Given the description of an element on the screen output the (x, y) to click on. 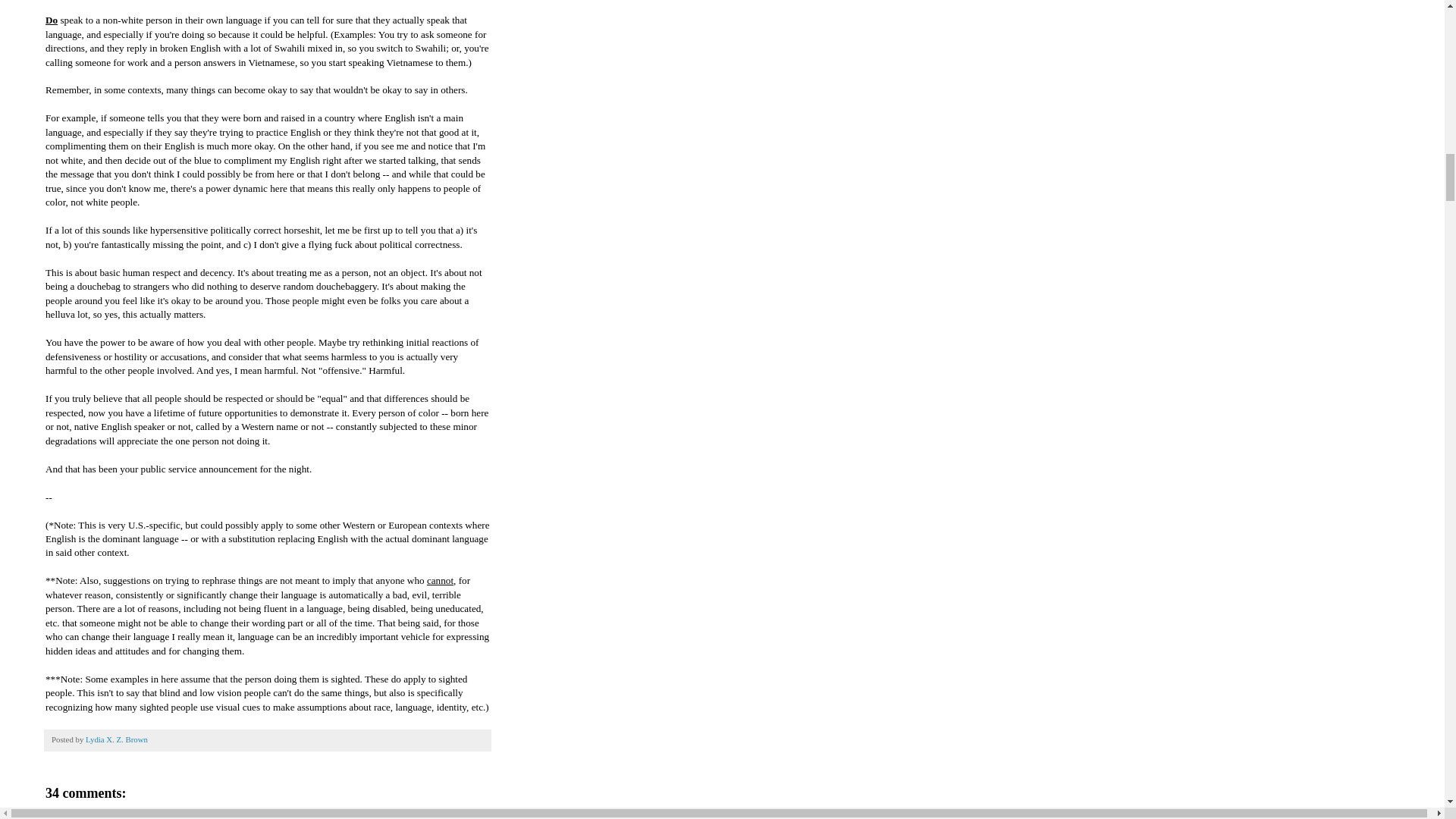
Lydia X. Z. Brown (116, 738)
author profile (116, 738)
